Given the description of an element on the screen output the (x, y) to click on. 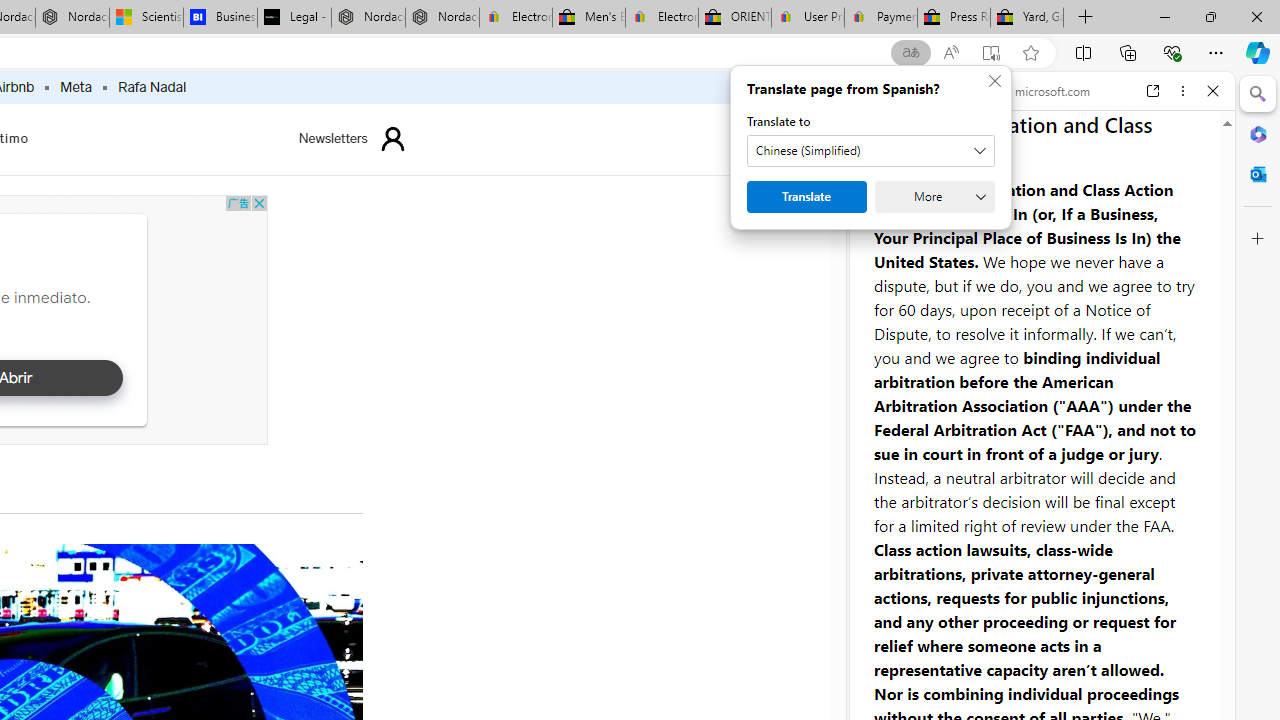
Minimize Search pane (1258, 94)
Translate to (790, 151)
Meta (76, 88)
Translate (726, 196)
Press Room - eBay Inc. (953, 17)
